Given the description of an element on the screen output the (x, y) to click on. 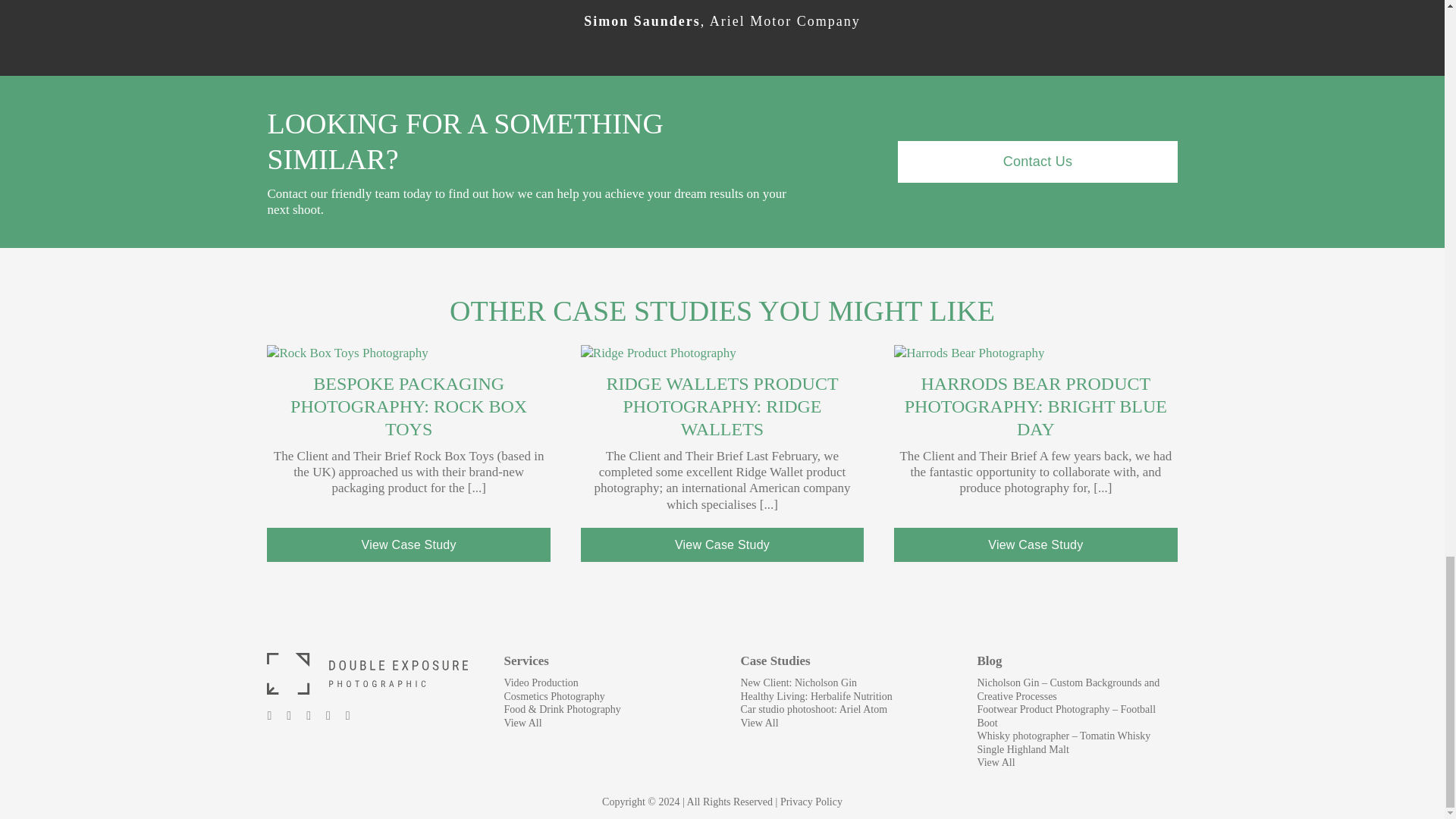
BESPOKE PACKAGING PHOTOGRAPHY: ROCK BOX TOYS (408, 405)
Contact Us (1037, 161)
